Given the description of an element on the screen output the (x, y) to click on. 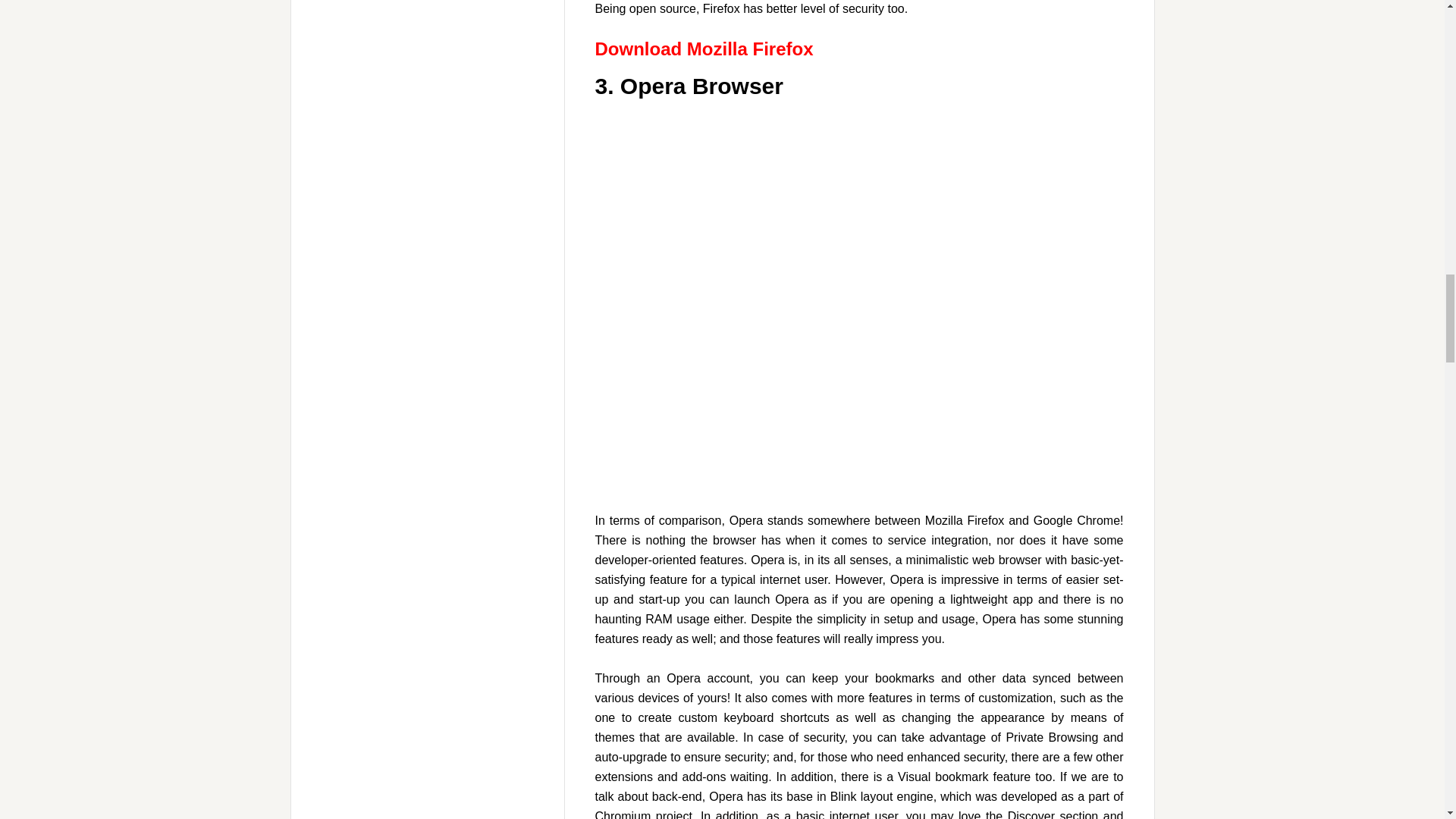
Download Mozilla Firefox (703, 48)
